Given the description of an element on the screen output the (x, y) to click on. 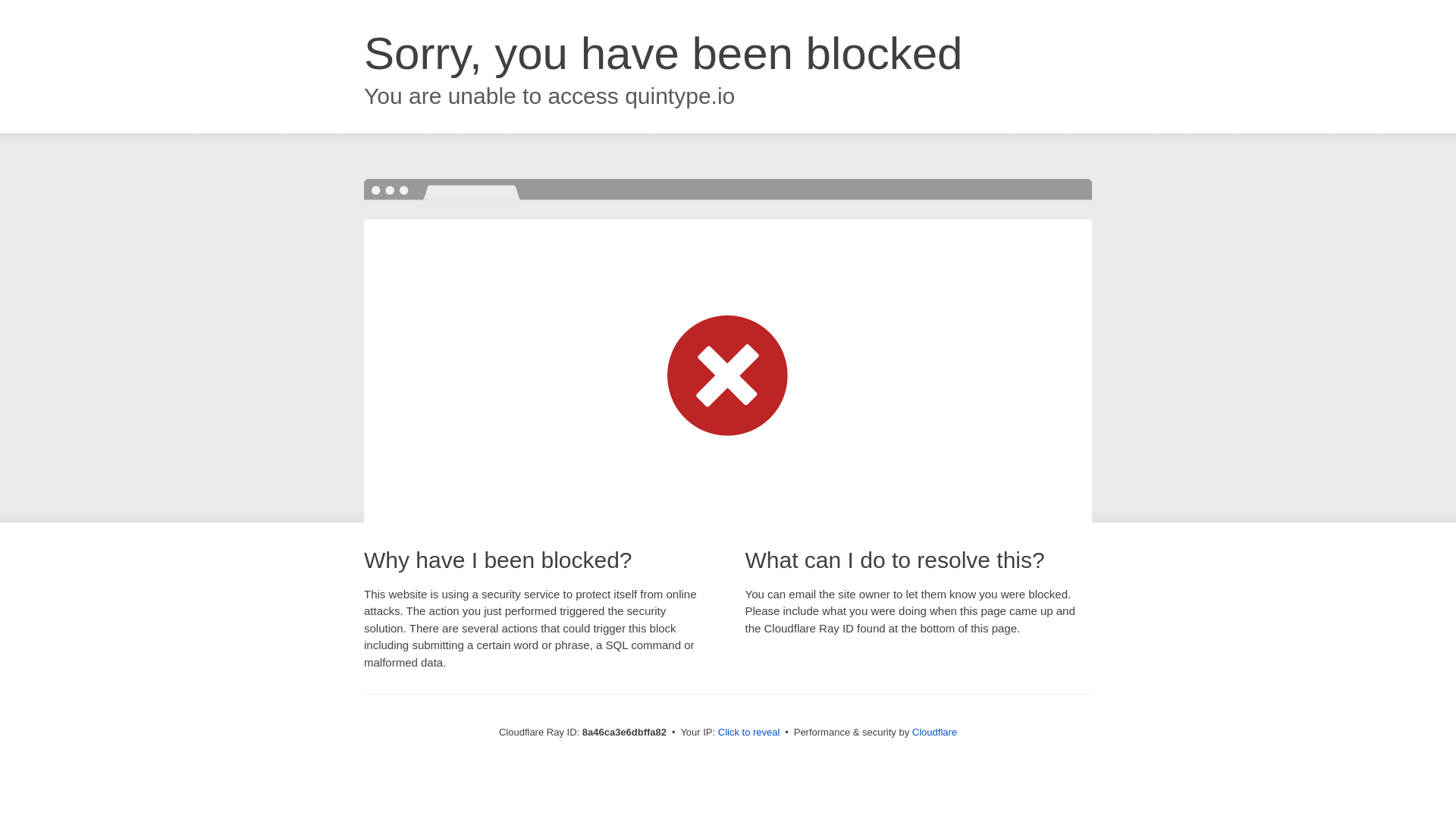
Cloudflare (934, 731)
Click to reveal (748, 732)
